Given the description of an element on the screen output the (x, y) to click on. 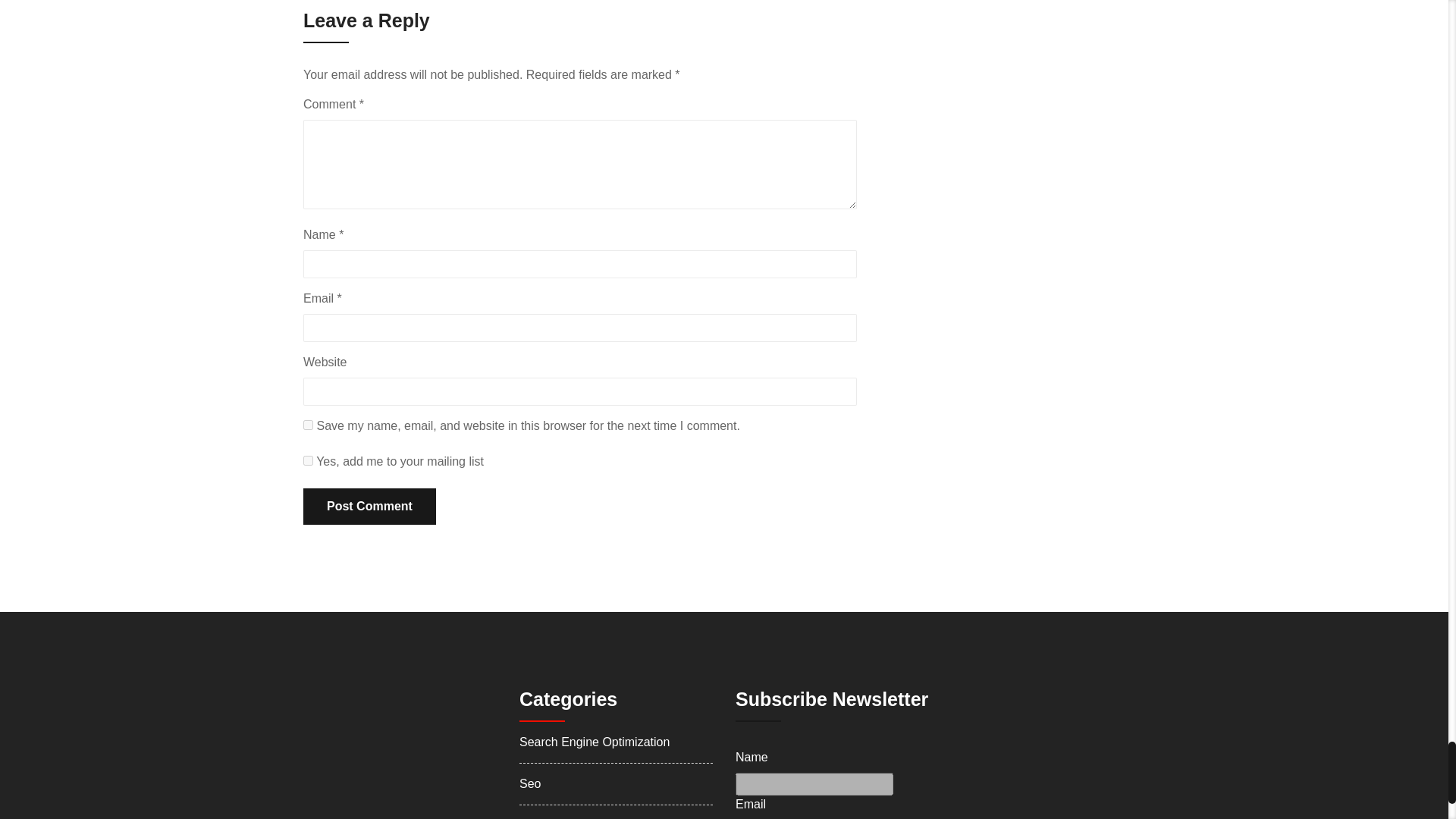
yes (307, 424)
Post Comment (368, 506)
1 (307, 460)
Post Comment (368, 506)
